Given the description of an element on the screen output the (x, y) to click on. 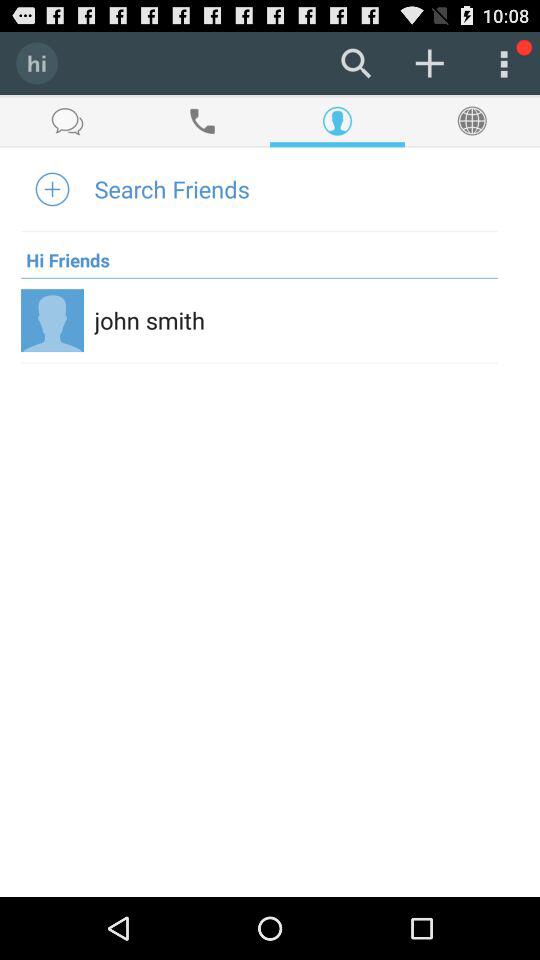
scroll to hi friends app (65, 254)
